Given the description of an element on the screen output the (x, y) to click on. 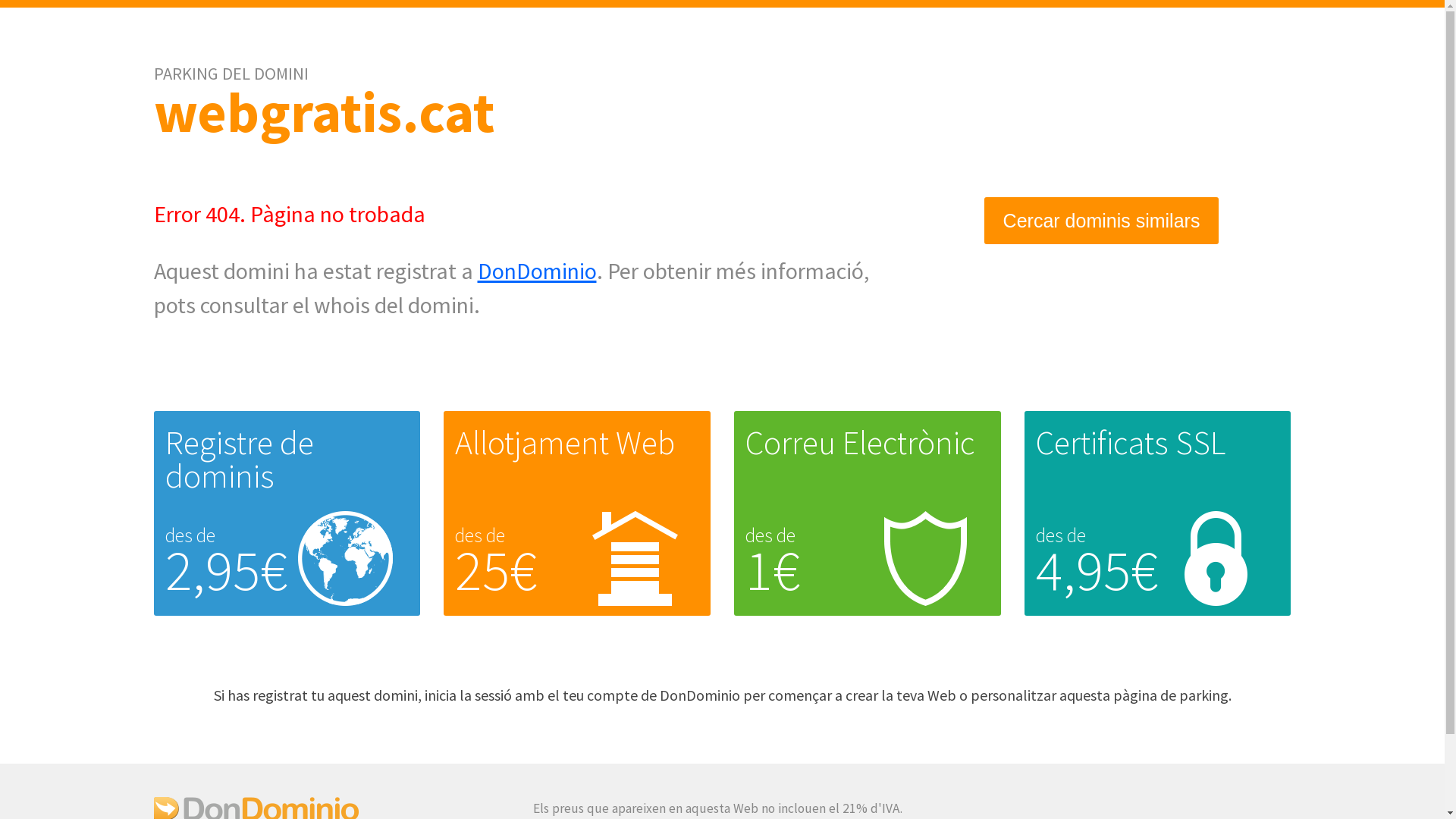
Certificats SSL Element type: text (1130, 442)
Allotjament Web Element type: text (564, 442)
DonDominio Element type: text (536, 270)
Cercar dominis similars Element type: text (1101, 220)
Registre de dominis Element type: text (239, 458)
